Given the description of an element on the screen output the (x, y) to click on. 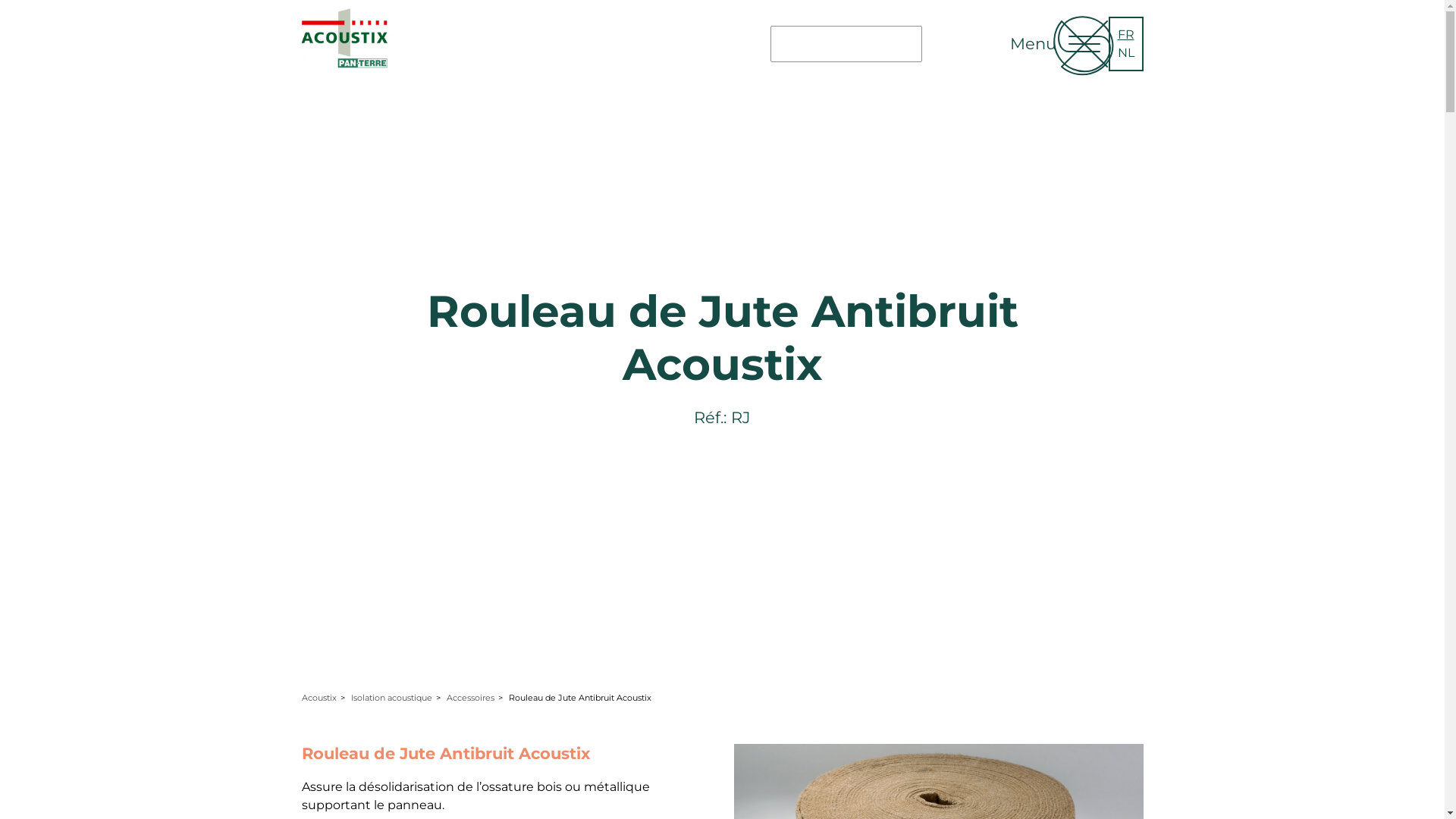
FR Element type: text (1125, 34)
Isolation acoustique Element type: text (390, 697)
Accessoires Element type: text (469, 697)
Rechercher Element type: text (947, 55)
Acoustix Element type: text (318, 697)
NL Element type: text (1125, 52)
